Given the description of an element on the screen output the (x, y) to click on. 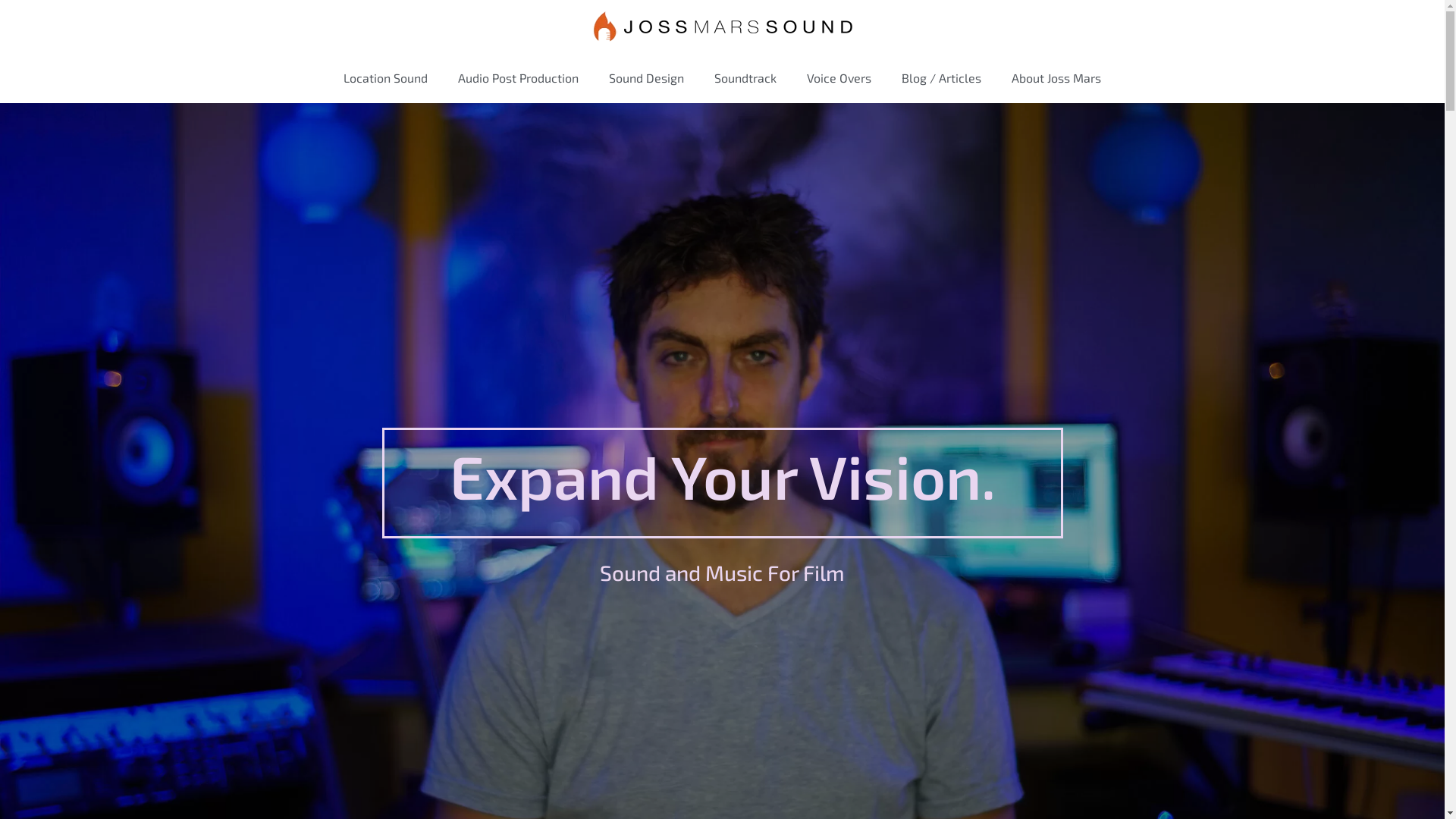
Voice Overs Element type: text (838, 77)
Location Sound Element type: text (385, 77)
Blog / Articles Element type: text (941, 77)
Audio Post Production Element type: text (517, 77)
Soundtrack Element type: text (745, 77)
Sound Design Element type: text (646, 77)
About Joss Mars Element type: text (1056, 77)
